Given the description of an element on the screen output the (x, y) to click on. 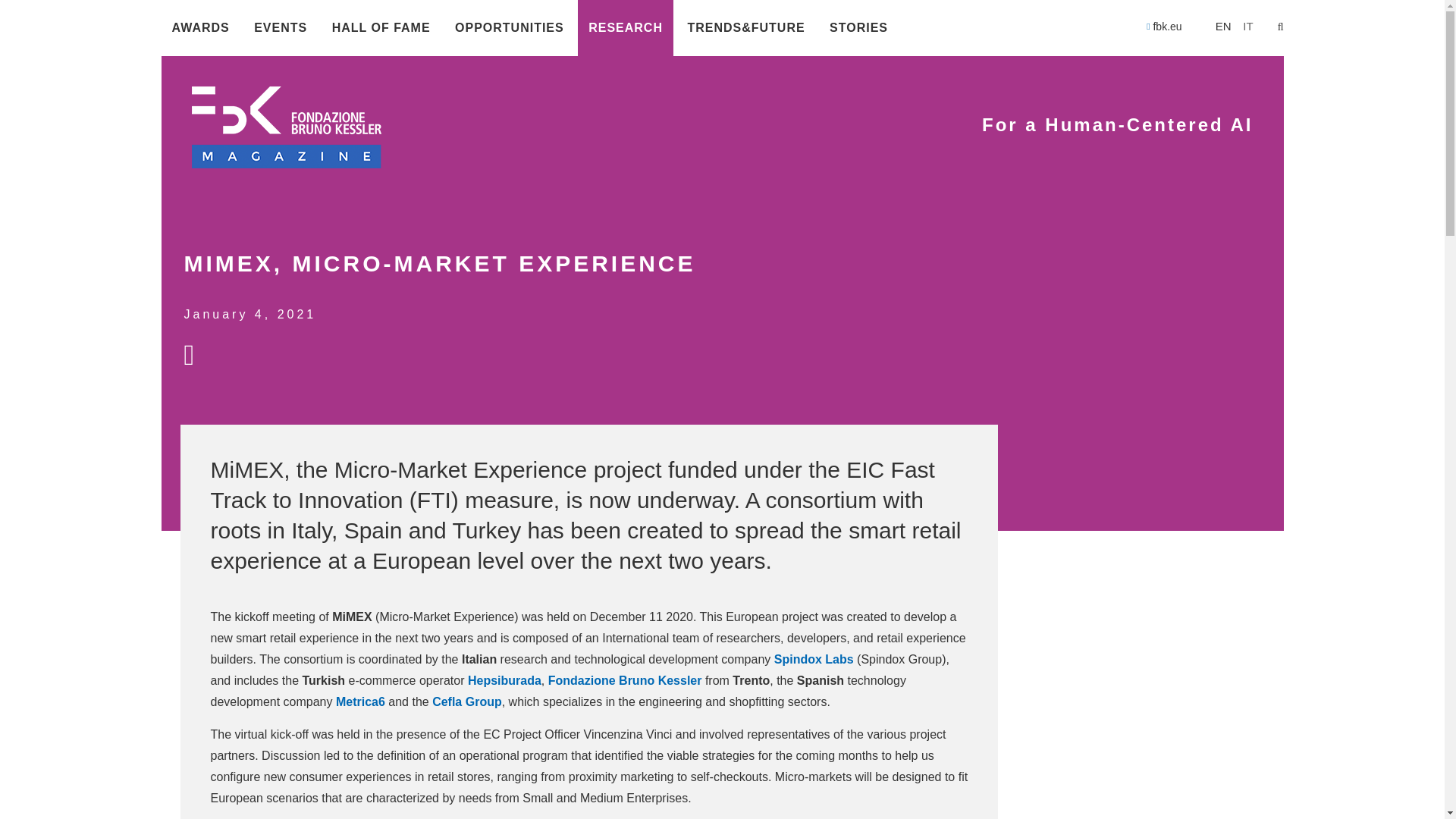
Metrica6 (360, 701)
English (1223, 25)
OPPORTUNITIES (509, 28)
Fondazione Bruno Kessler (626, 680)
Cefla Group (467, 701)
EN (1223, 25)
Spindox Labs (813, 658)
AWARDS (200, 28)
Hepsiburada (504, 680)
EVENTS (280, 28)
STORIES (858, 28)
RESEARCH (625, 28)
HALL OF FAME (381, 28)
